Given the description of an element on the screen output the (x, y) to click on. 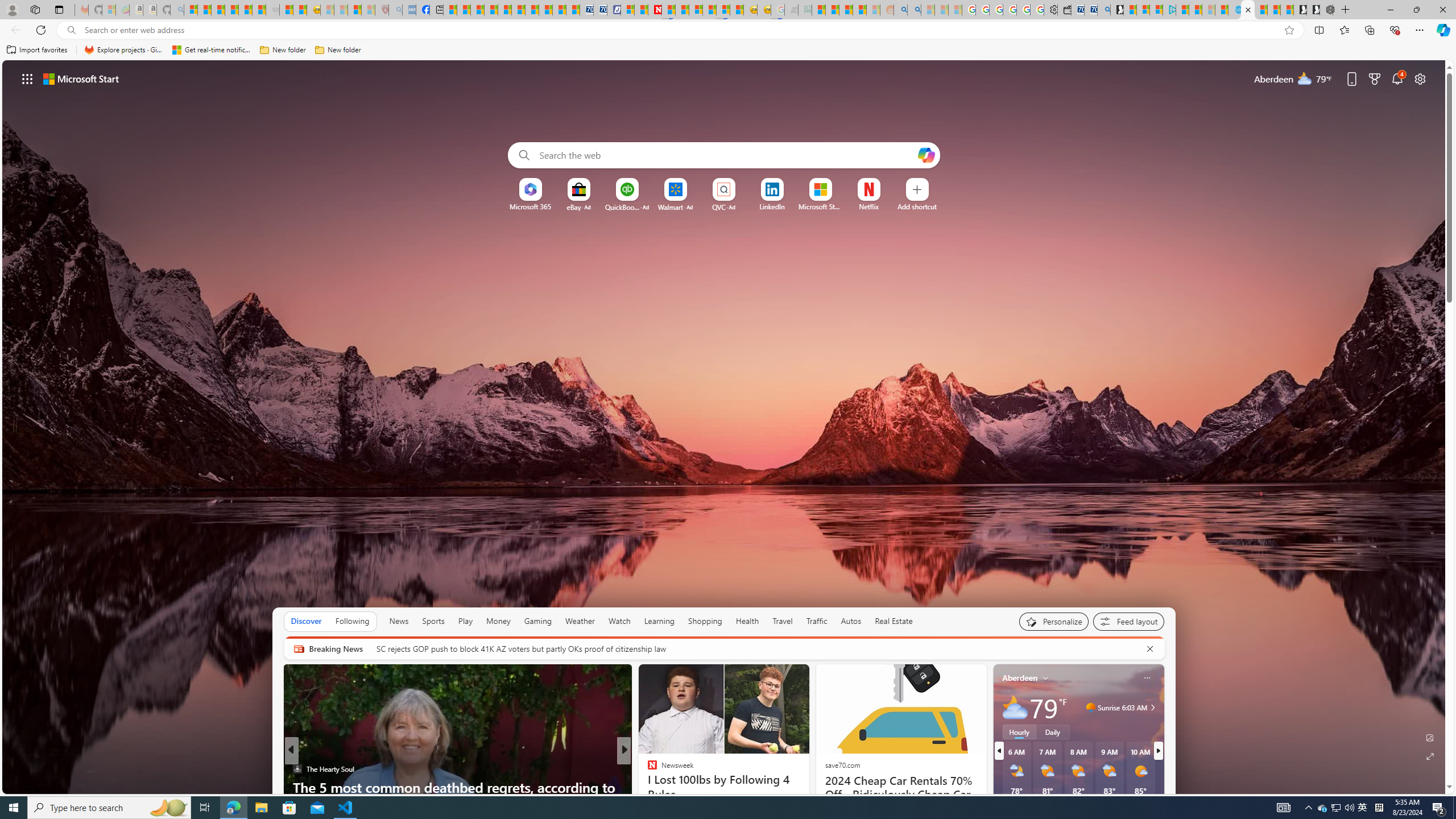
My location (1045, 677)
New folder (337, 49)
AutomationID: backgroundImagePicture (723, 426)
